Given the description of an element on the screen output the (x, y) to click on. 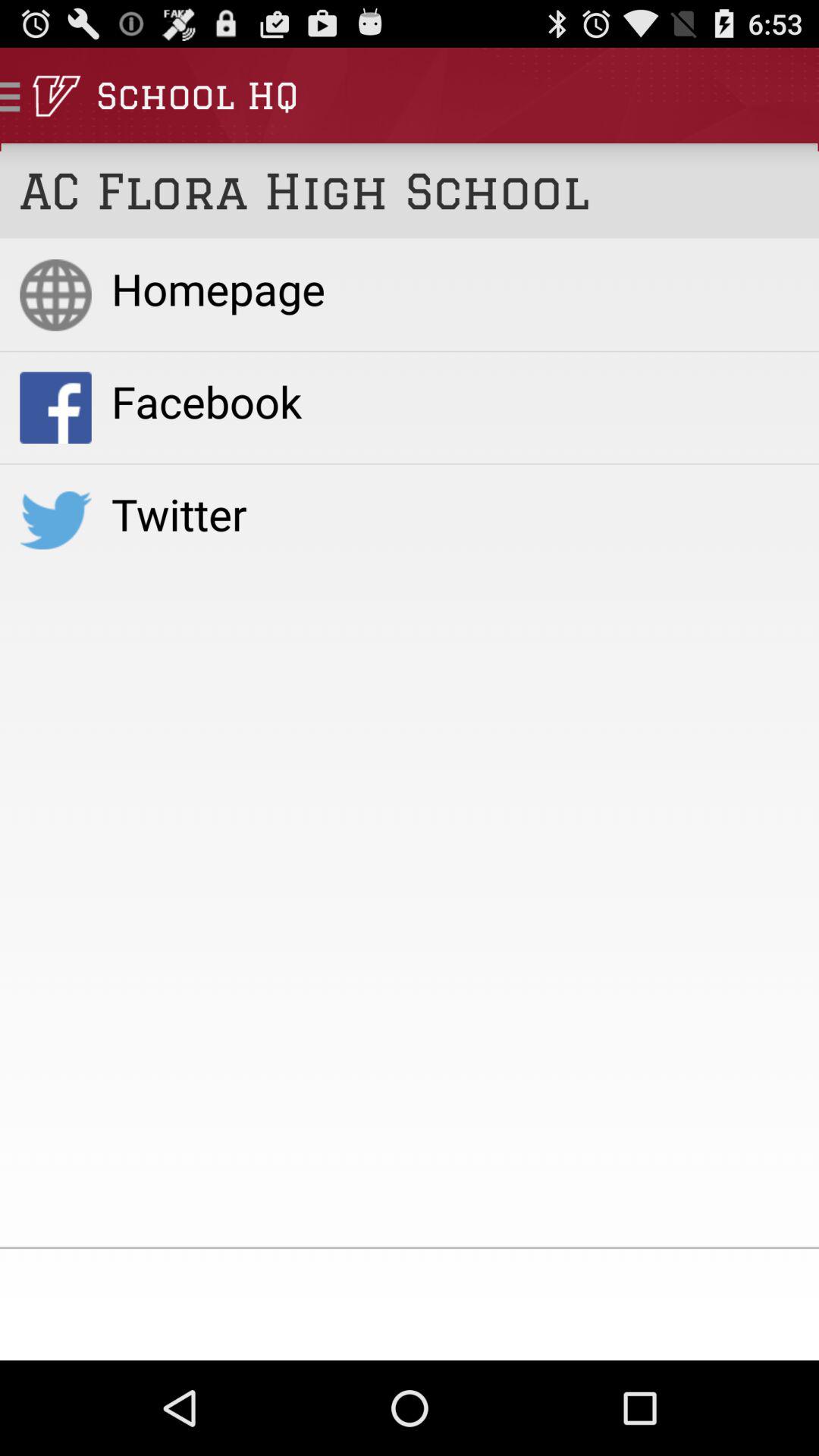
turn on the twitter item (455, 513)
